Given the description of an element on the screen output the (x, y) to click on. 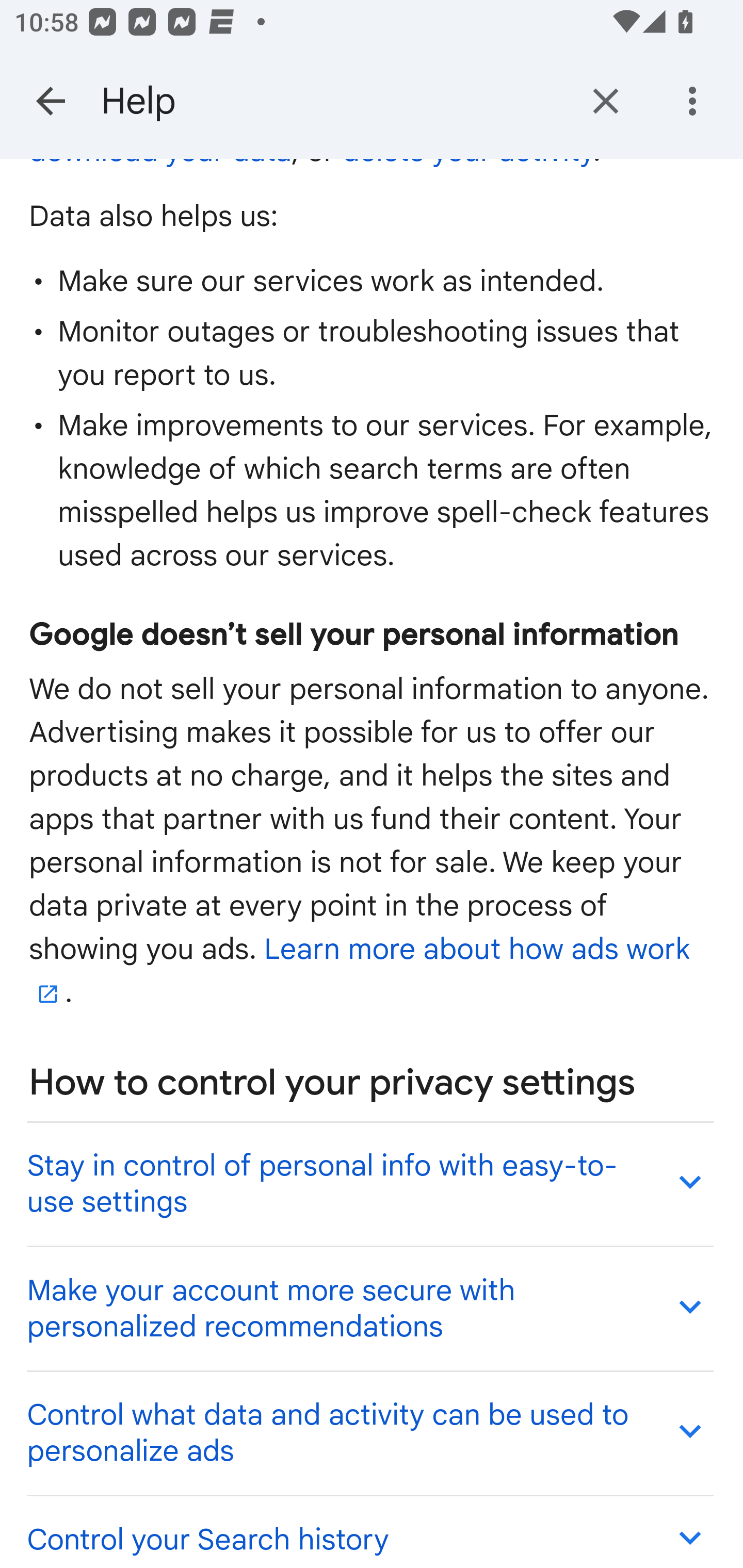
Navigate up (50, 101)
Return to Google News (605, 101)
More options (696, 101)
Learn more about how ads work (359, 971)
Control your Search history (369, 1531)
